Given the description of an element on the screen output the (x, y) to click on. 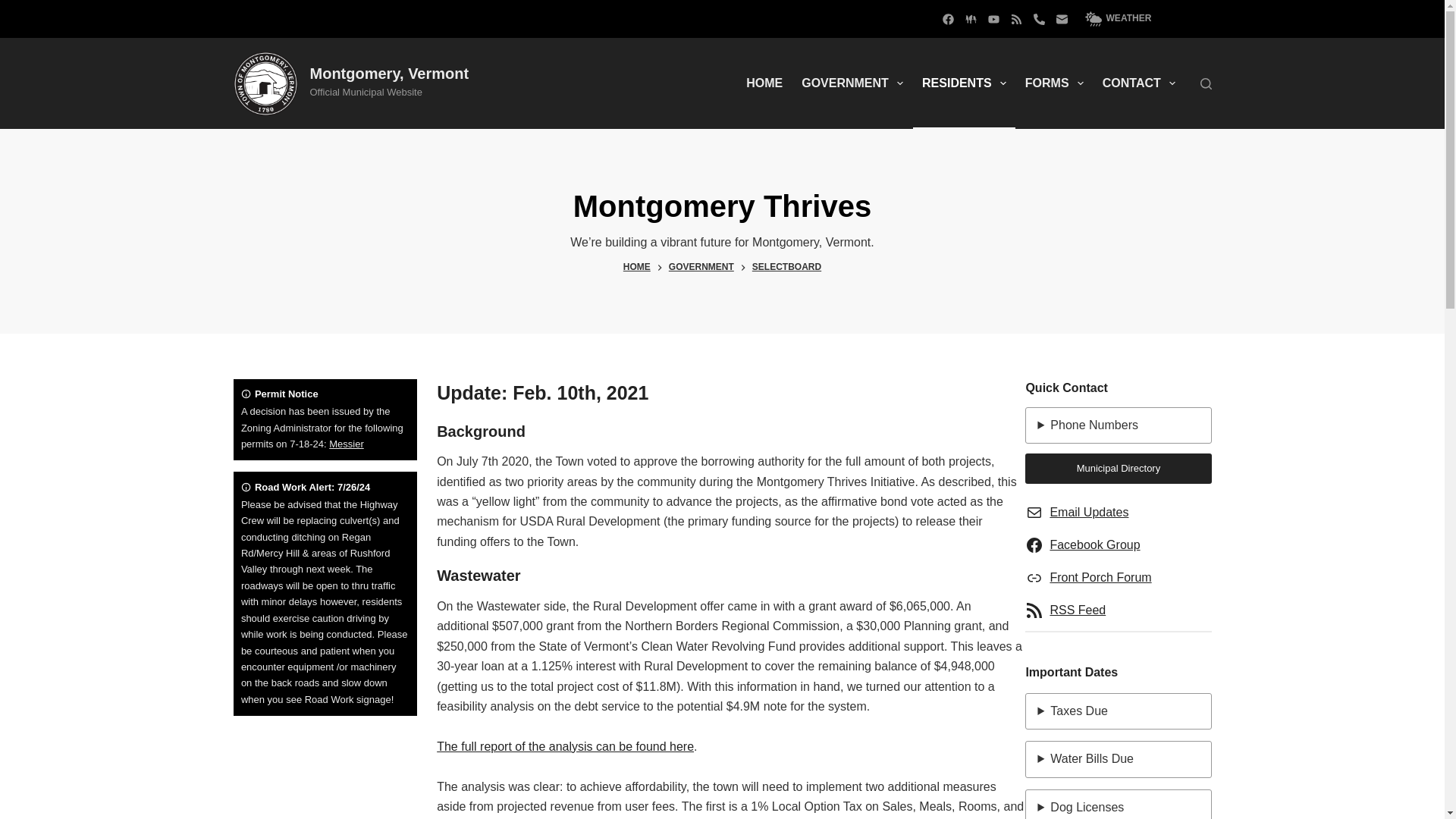
Skip to content (15, 7)
Montgomery Thrives (722, 206)
